Given the description of an element on the screen output the (x, y) to click on. 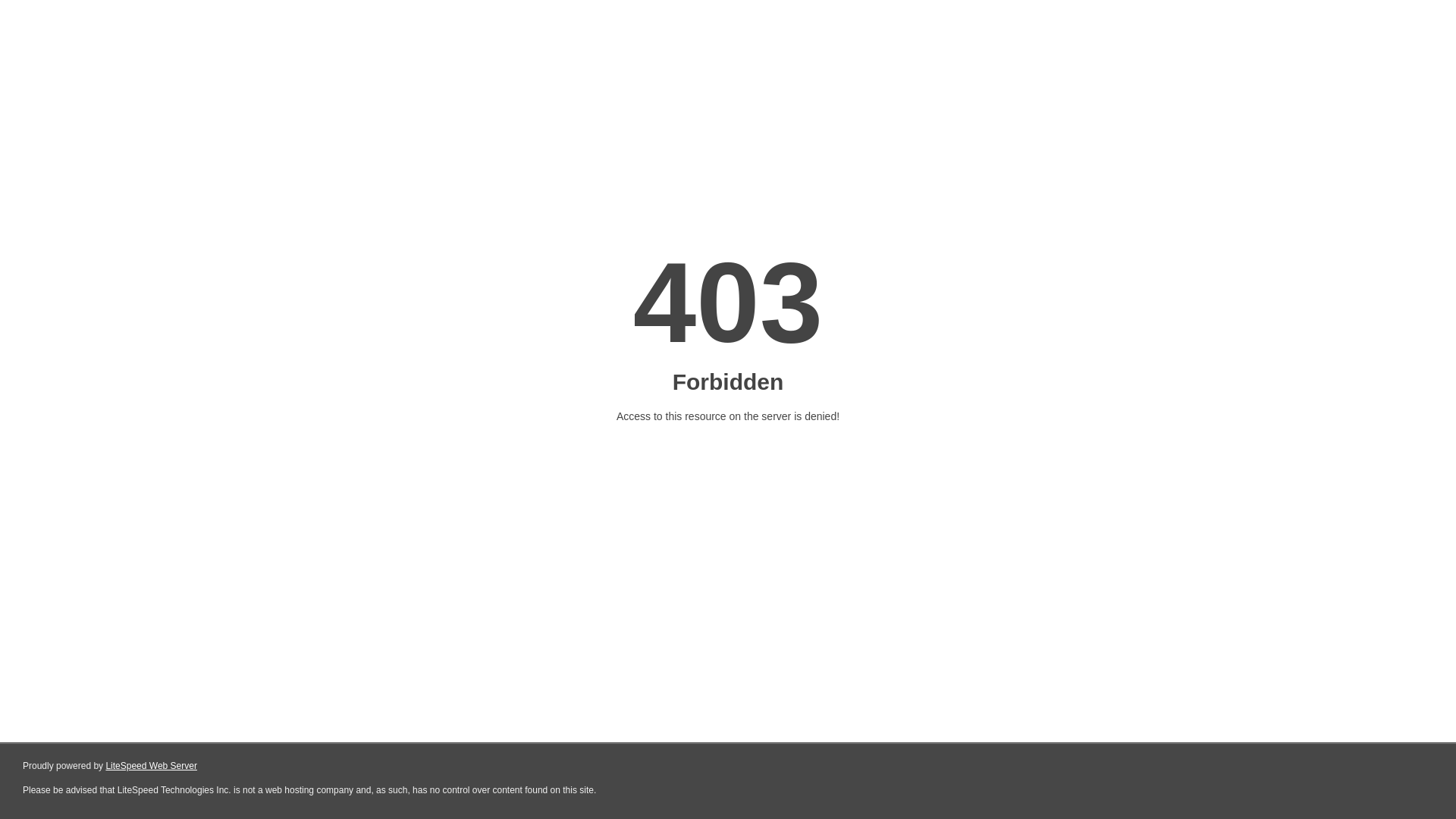
LiteSpeed Web Server Element type: text (151, 765)
